Given the description of an element on the screen output the (x, y) to click on. 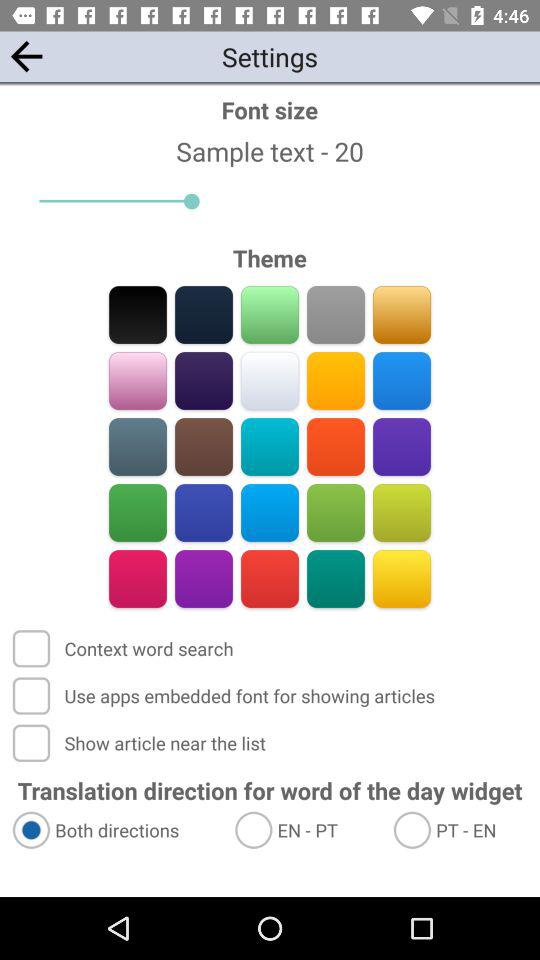
choose the icon below context word search icon (225, 695)
